Given the description of an element on the screen output the (x, y) to click on. 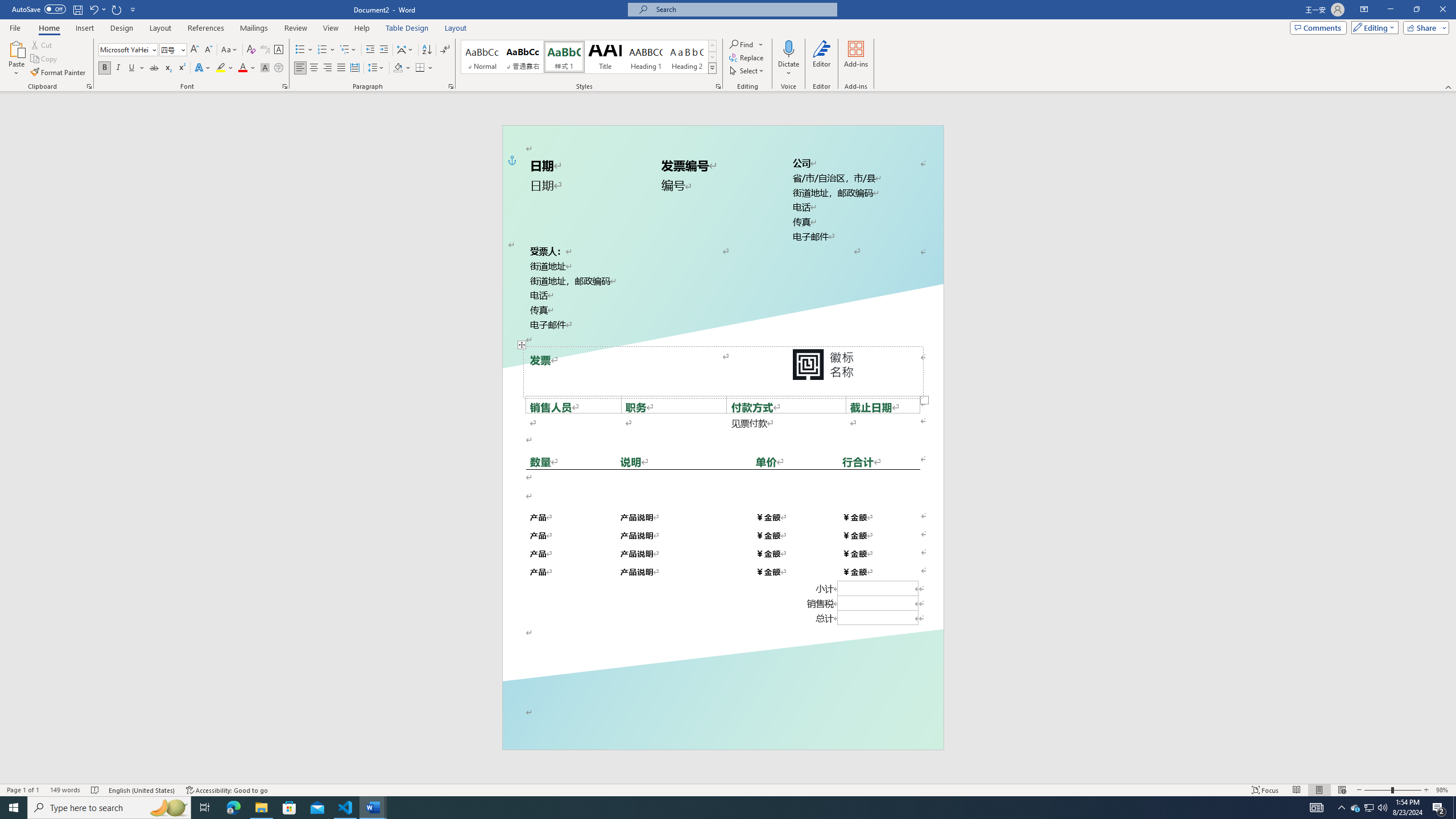
First Page Header -Section 1- (722, 140)
